Given the description of an element on the screen output the (x, y) to click on. 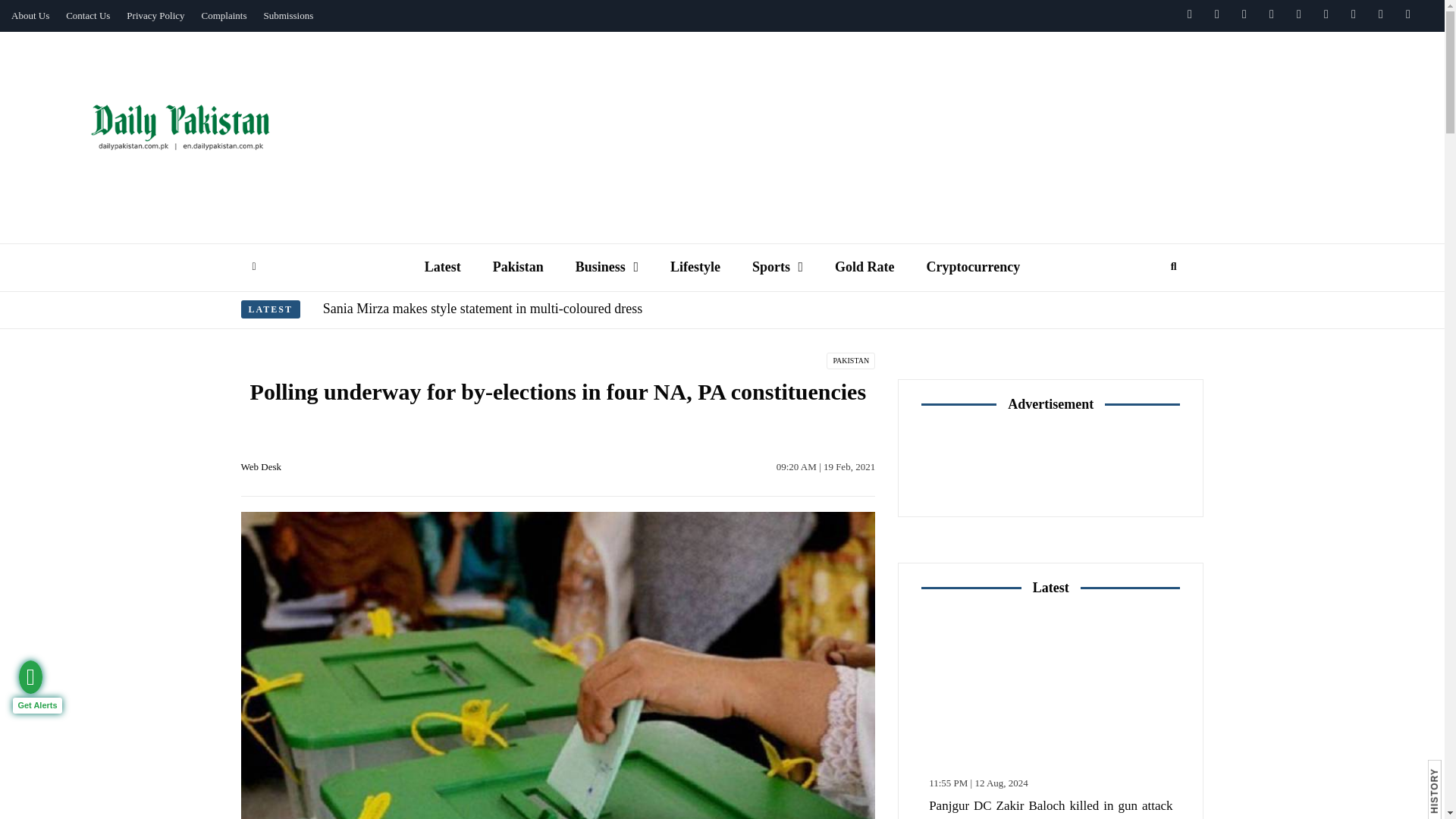
Lifestyle (694, 266)
Panjgur DC Zakir Baloch killed in gun attack in Mastung (1050, 689)
Business (606, 266)
About Us (30, 15)
Contact Us (87, 15)
Pakistan (518, 266)
Privacy Policy (155, 15)
Sports (777, 266)
Complaints (224, 15)
Latest (443, 266)
